Given the description of an element on the screen output the (x, y) to click on. 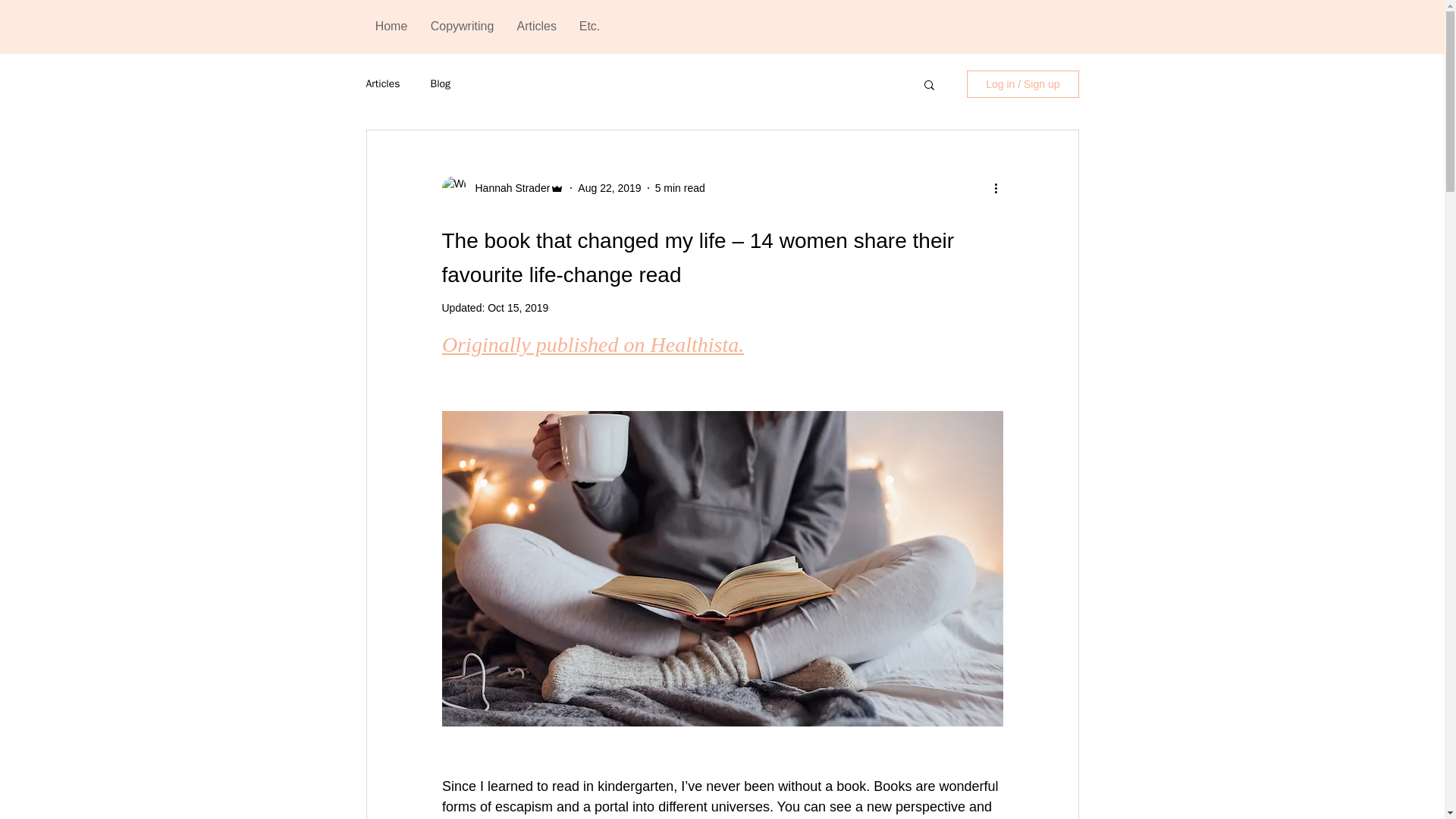
Etc. (589, 26)
Aug 22, 2019 (609, 187)
Blog (440, 83)
Articles (381, 83)
Articles (536, 26)
Hannah Strader (507, 188)
Home (391, 26)
5 min read (679, 187)
Originally published on Healthista. (591, 344)
Oct 15, 2019 (517, 307)
